Given the description of an element on the screen output the (x, y) to click on. 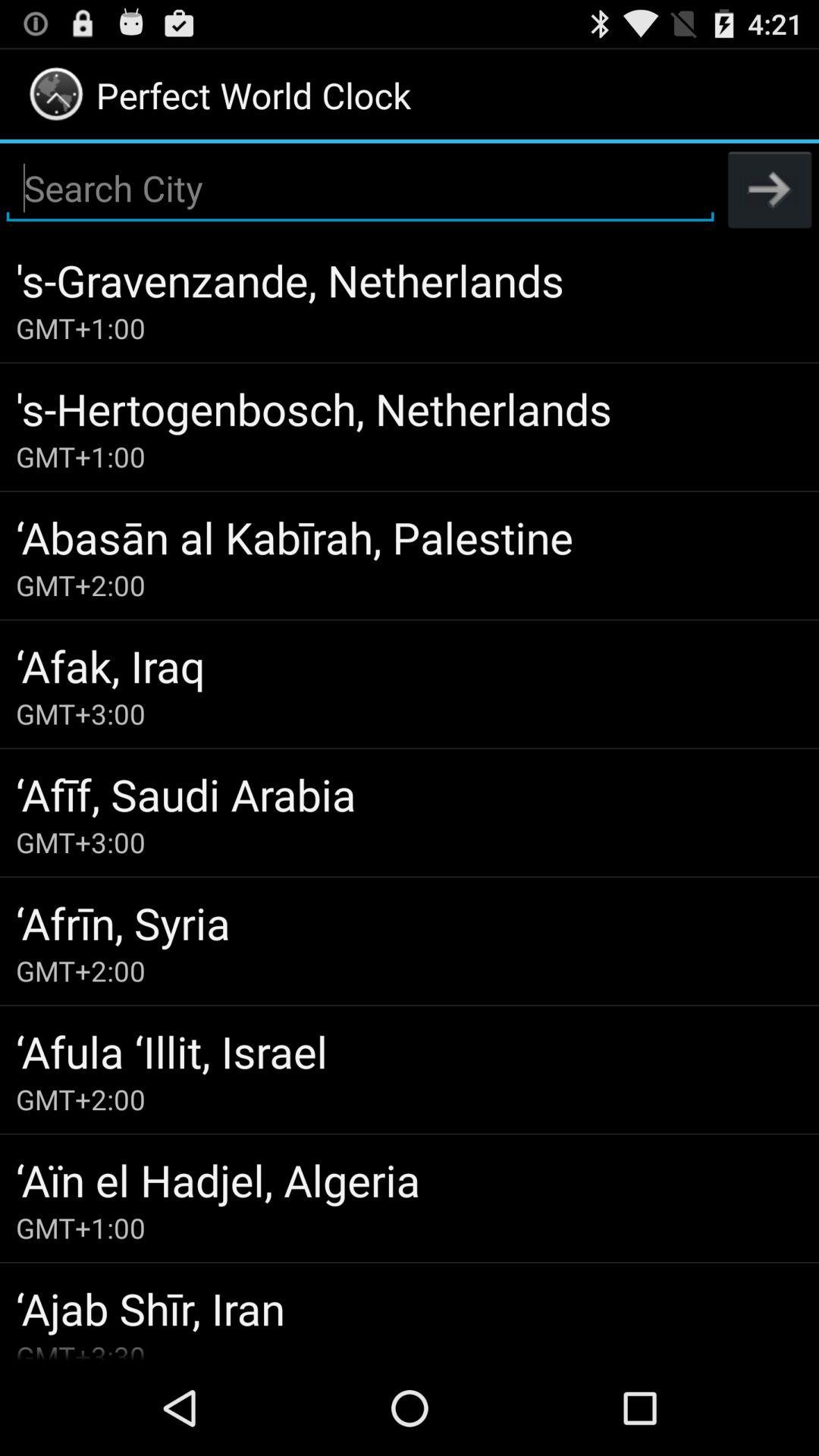
press the icon below the gmt+2:00 (409, 665)
